Given the description of an element on the screen output the (x, y) to click on. 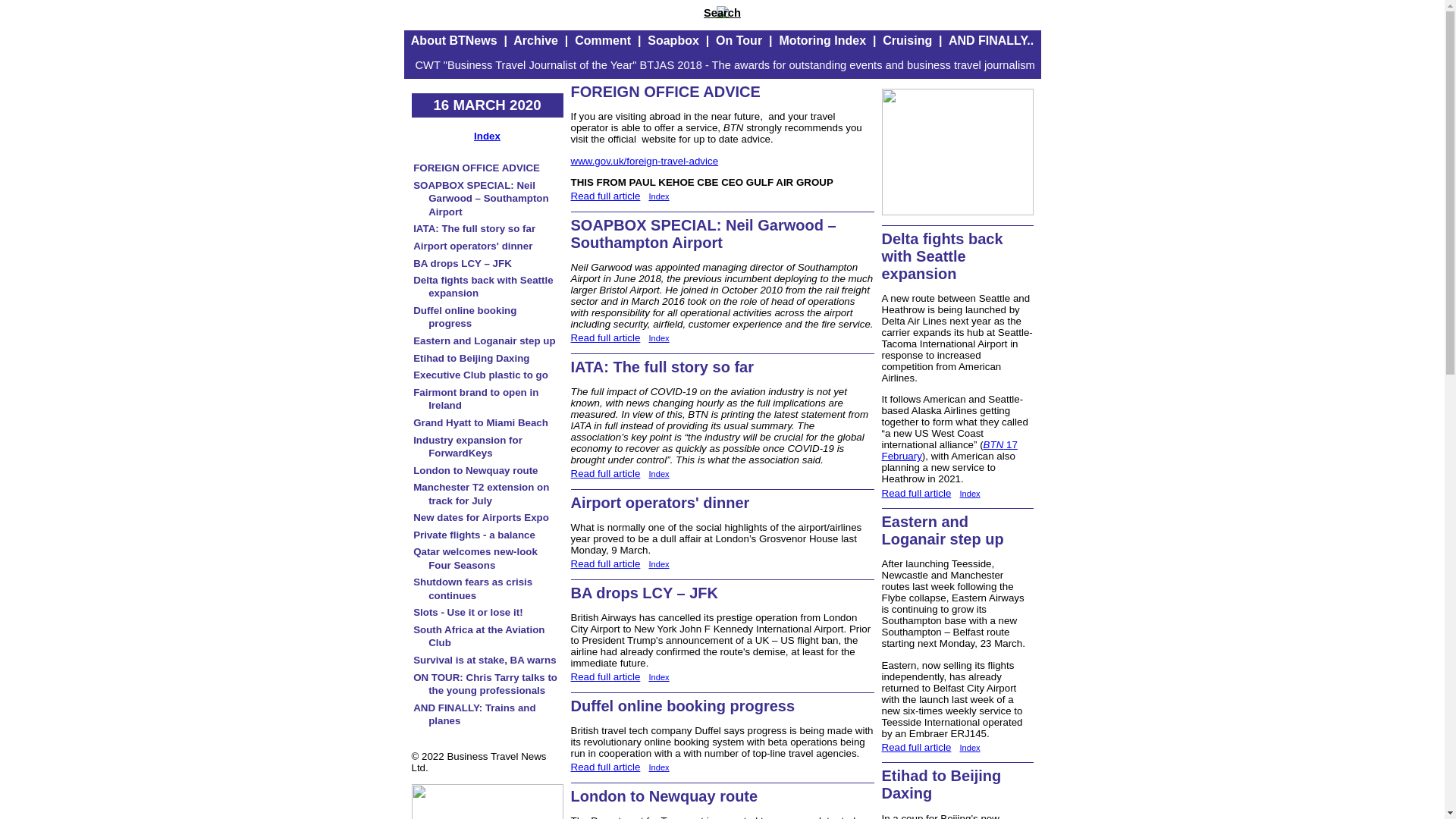
Fairmont brand to open in Ireland (475, 398)
Search (722, 12)
Qatar welcomes new-look Four Seasons (475, 558)
South Africa at the Aviation Club (478, 636)
Cruising (906, 40)
ON TOUR: Chris Tarry talks to the young professionals (485, 683)
On Tour (738, 40)
Private flights - a balance (474, 534)
IATA: The full story so far (474, 228)
Survival is at stake, BA warns (484, 659)
